Given the description of an element on the screen output the (x, y) to click on. 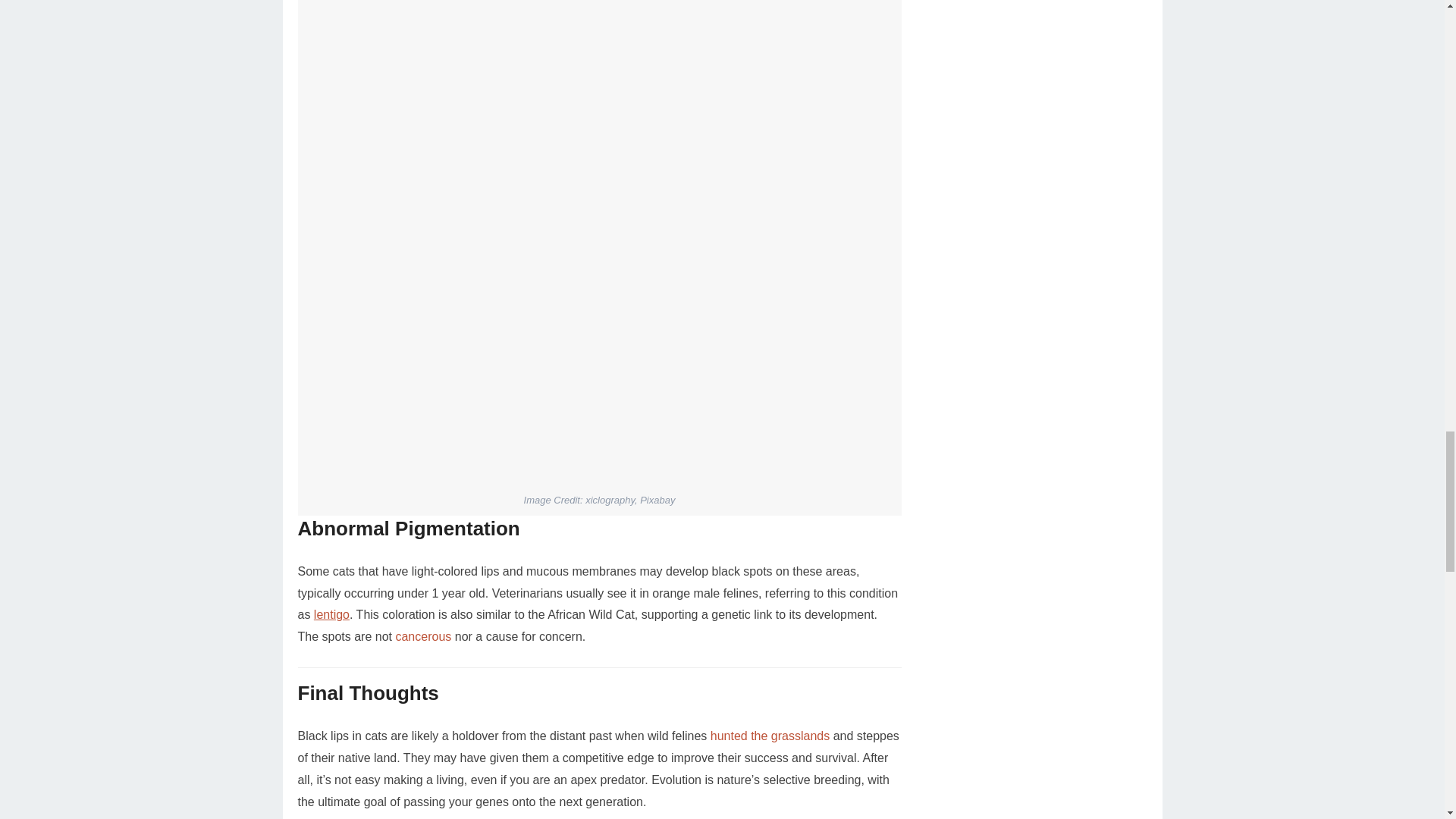
lentigo (331, 614)
